Given the description of an element on the screen output the (x, y) to click on. 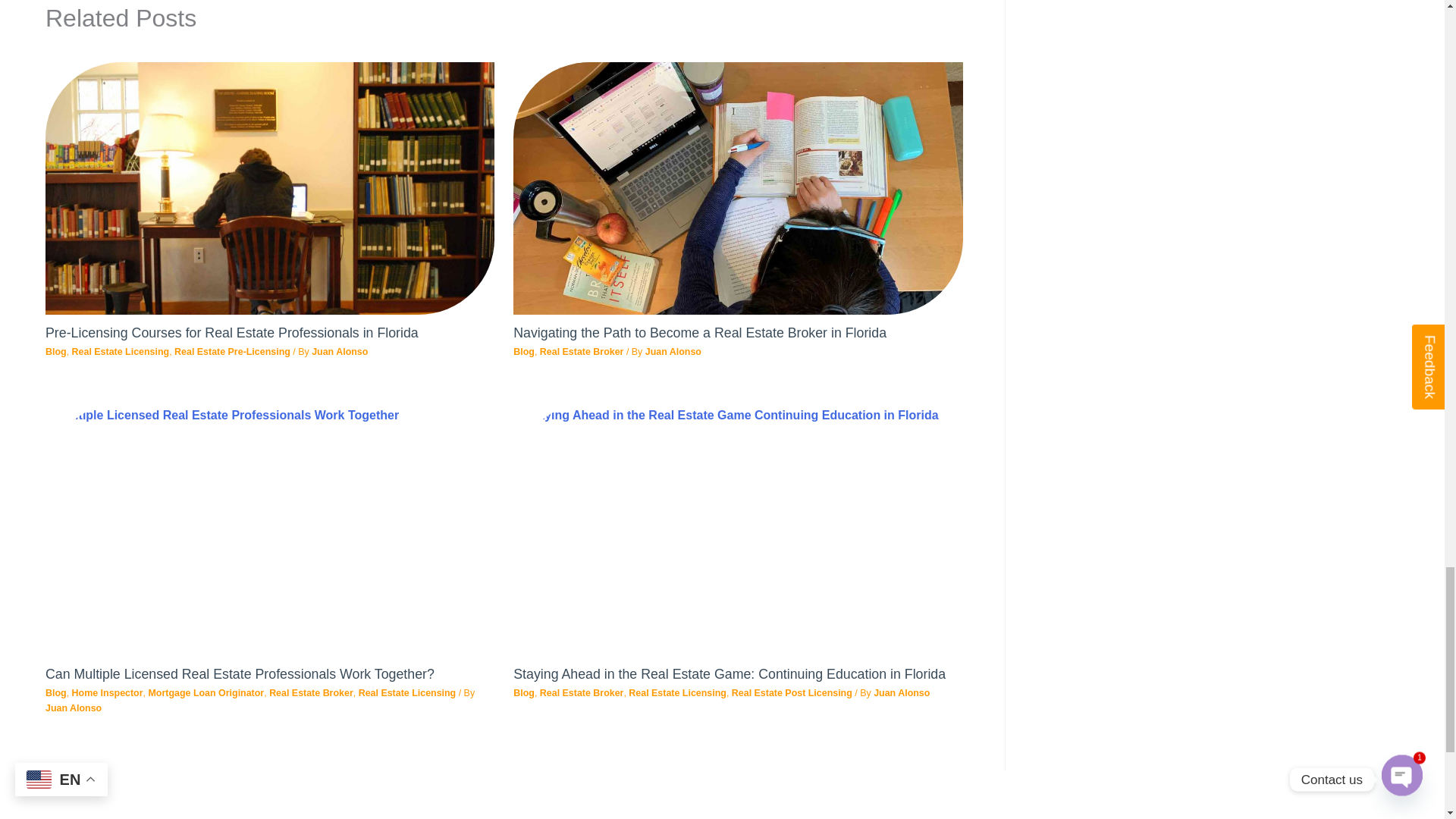
View all posts by Juan Alonso (339, 351)
View all posts by Juan Alonso (73, 707)
View all posts by Juan Alonso (673, 351)
